Given the description of an element on the screen output the (x, y) to click on. 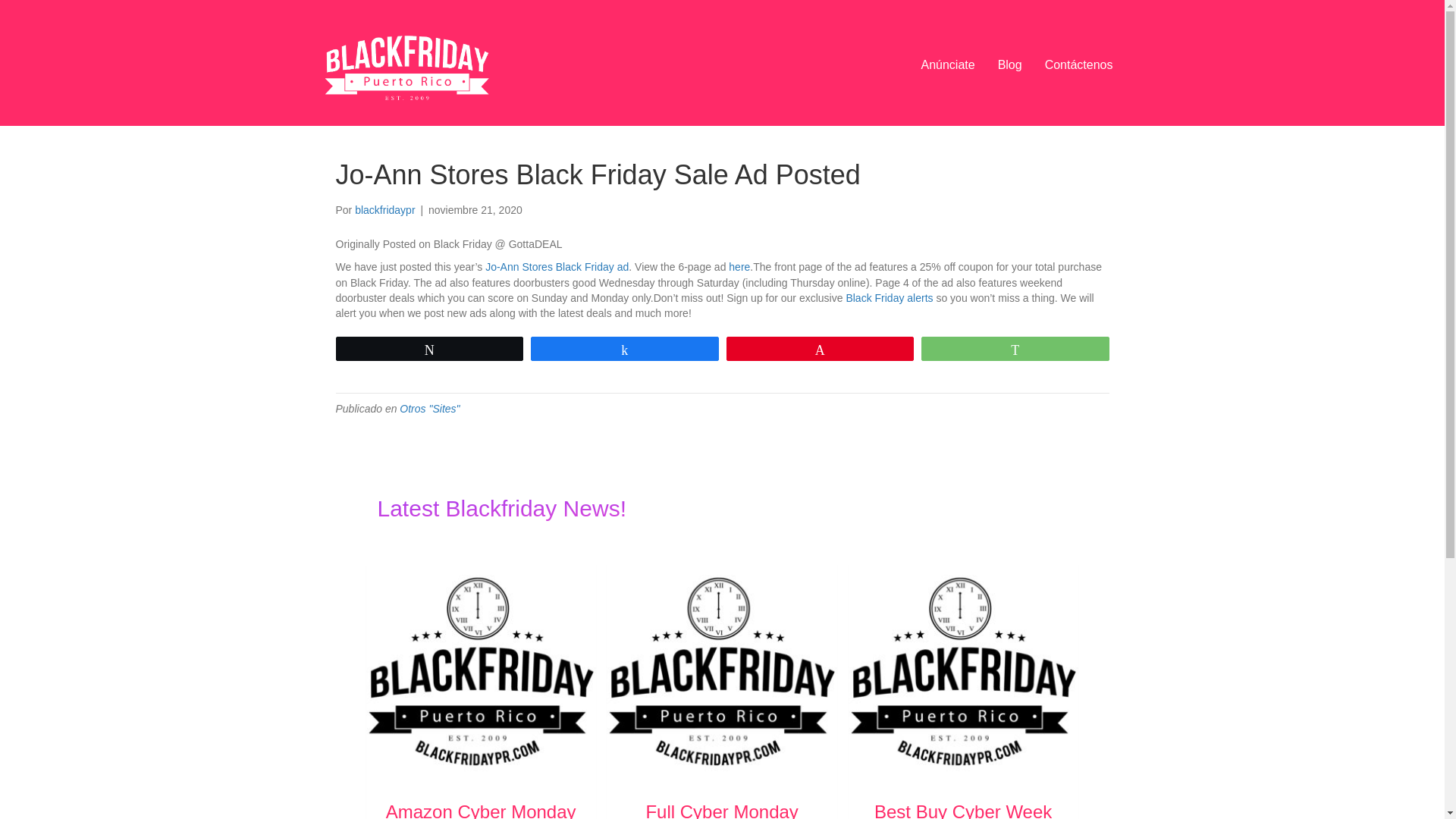
blackfridaypr-long-white (408, 64)
Full Cyber Monday Coverage Coming on GottaDEAL! (721, 670)
Blog (1009, 64)
here (739, 266)
Full Cyber Monday Coverage Coming on GottaDEAL! (722, 810)
Otros "Sites" (429, 408)
Jo-Ann Stores Black Friday ad (556, 266)
Amazon Cyber Monday Weekend is Live! (480, 810)
Best Buy Cyber Week Sale is Live! (962, 670)
Black Friday alerts (889, 297)
